Given the description of an element on the screen output the (x, y) to click on. 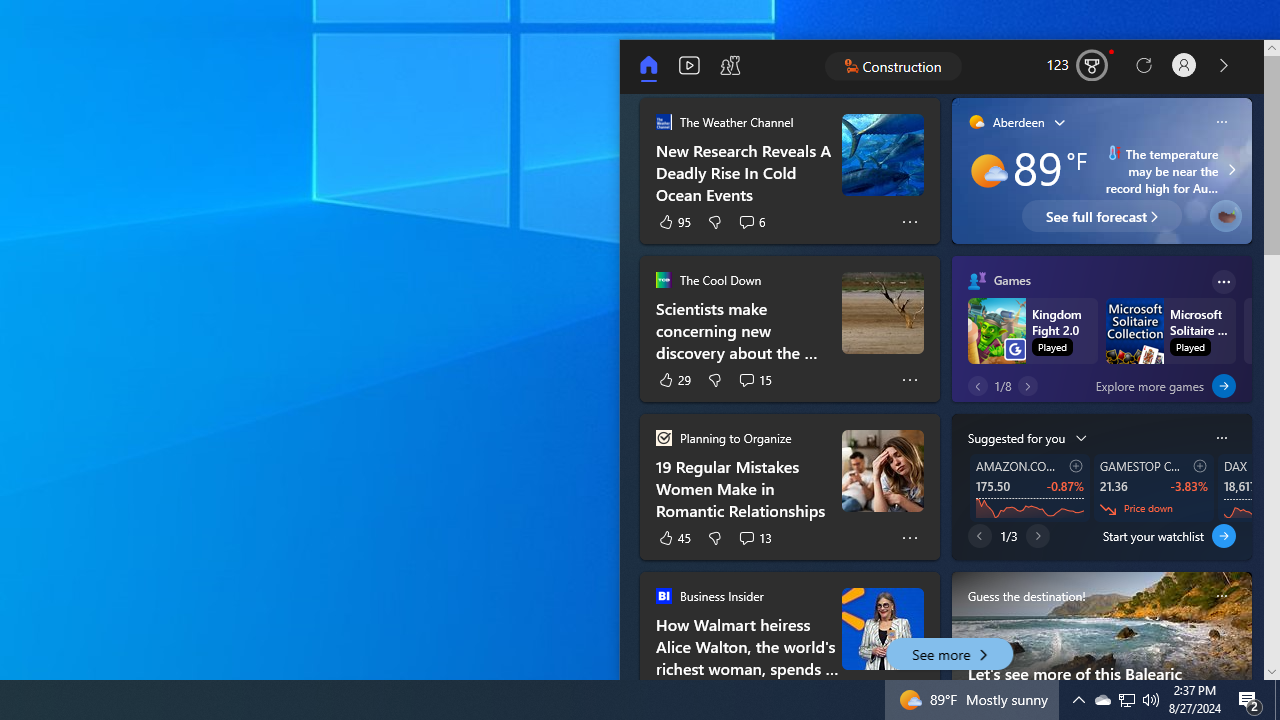
Previous game (977, 385)
More options (1224, 281)
See 15 comments (754, 379)
See full forecast (1101, 215)
Next game (1027, 385)
News and Interests (998, 65)
See more news (1224, 65)
Hide Story (910, 602)
Settings (1183, 65)
